Given the description of an element on the screen output the (x, y) to click on. 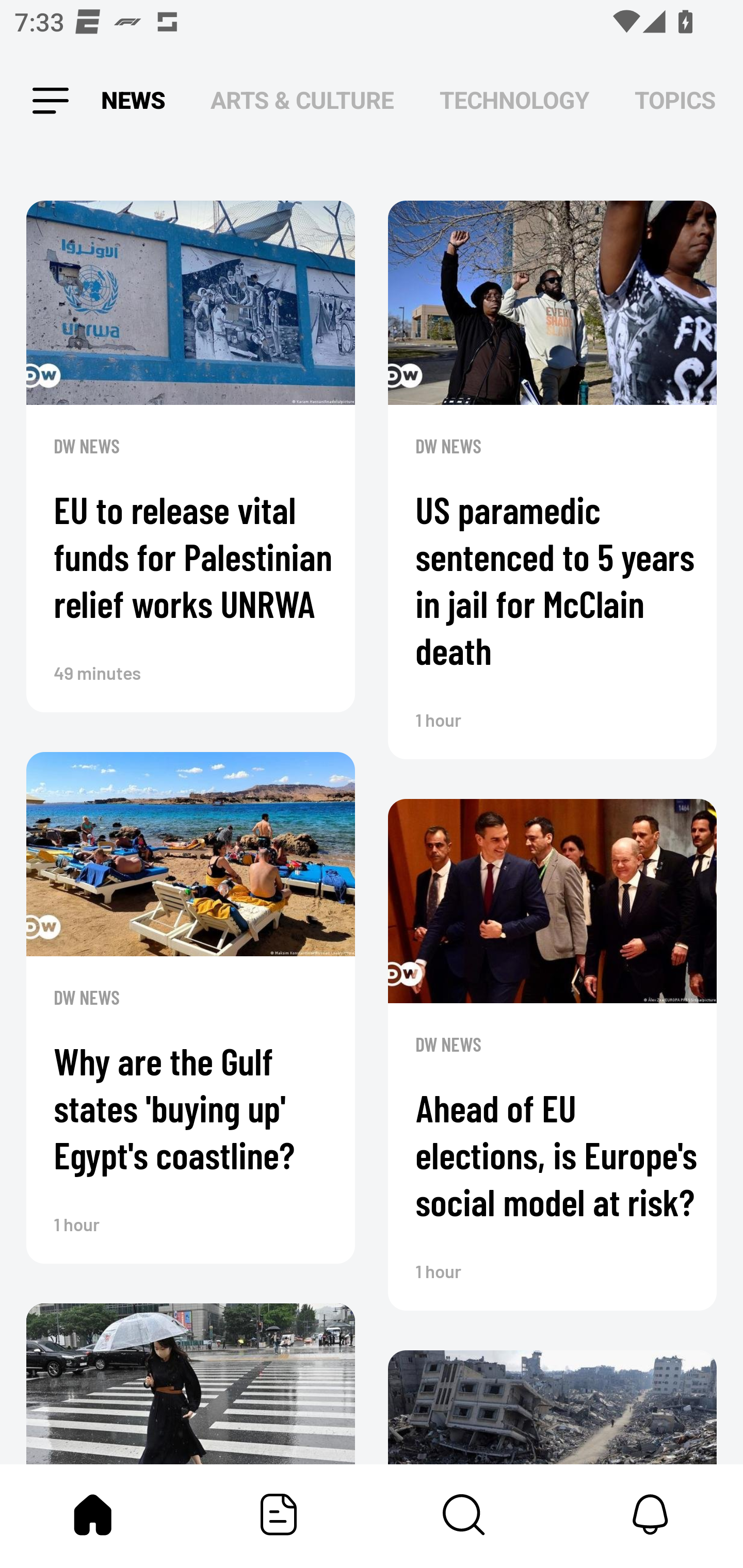
Leading Icon (48, 101)
ARTS & CULTURE (302, 100)
TECHNOLOGY (514, 100)
TOPICS (675, 100)
Featured (278, 1514)
Content Store (464, 1514)
Notifications (650, 1514)
